Given the description of an element on the screen output the (x, y) to click on. 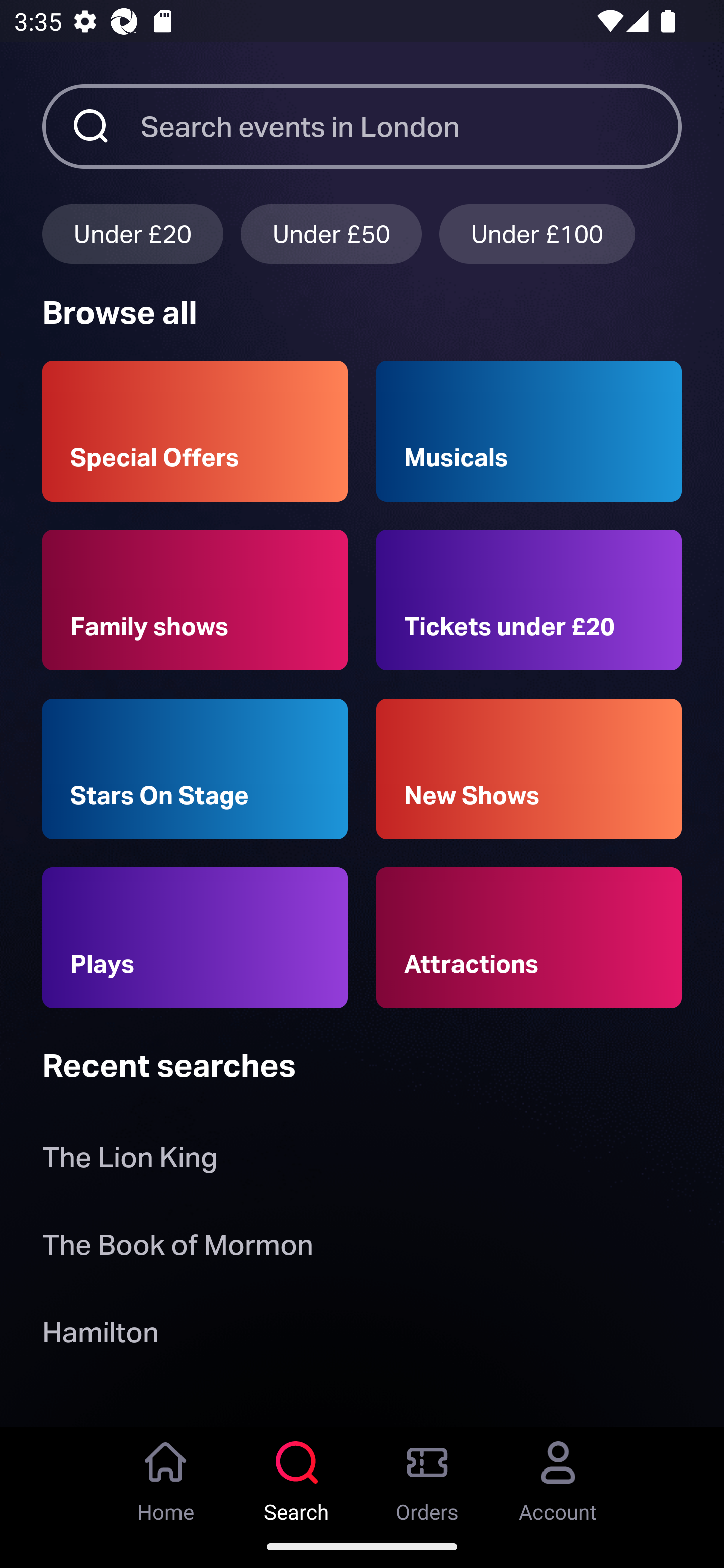
Search events in London (411, 126)
Under £20 (131, 233)
Under £50 (331, 233)
Under £100 (536, 233)
Special Offers (194, 430)
Musicals (528, 430)
Family shows (194, 600)
Tickets under £20  (528, 600)
Stars On Stage (194, 768)
New Shows (528, 768)
Plays (194, 937)
Attractions  (528, 937)
The Lion King (129, 1161)
The Book of Mormon (177, 1248)
Hamilton (99, 1335)
Home (165, 1475)
Orders (427, 1475)
Account (558, 1475)
